Given the description of an element on the screen output the (x, y) to click on. 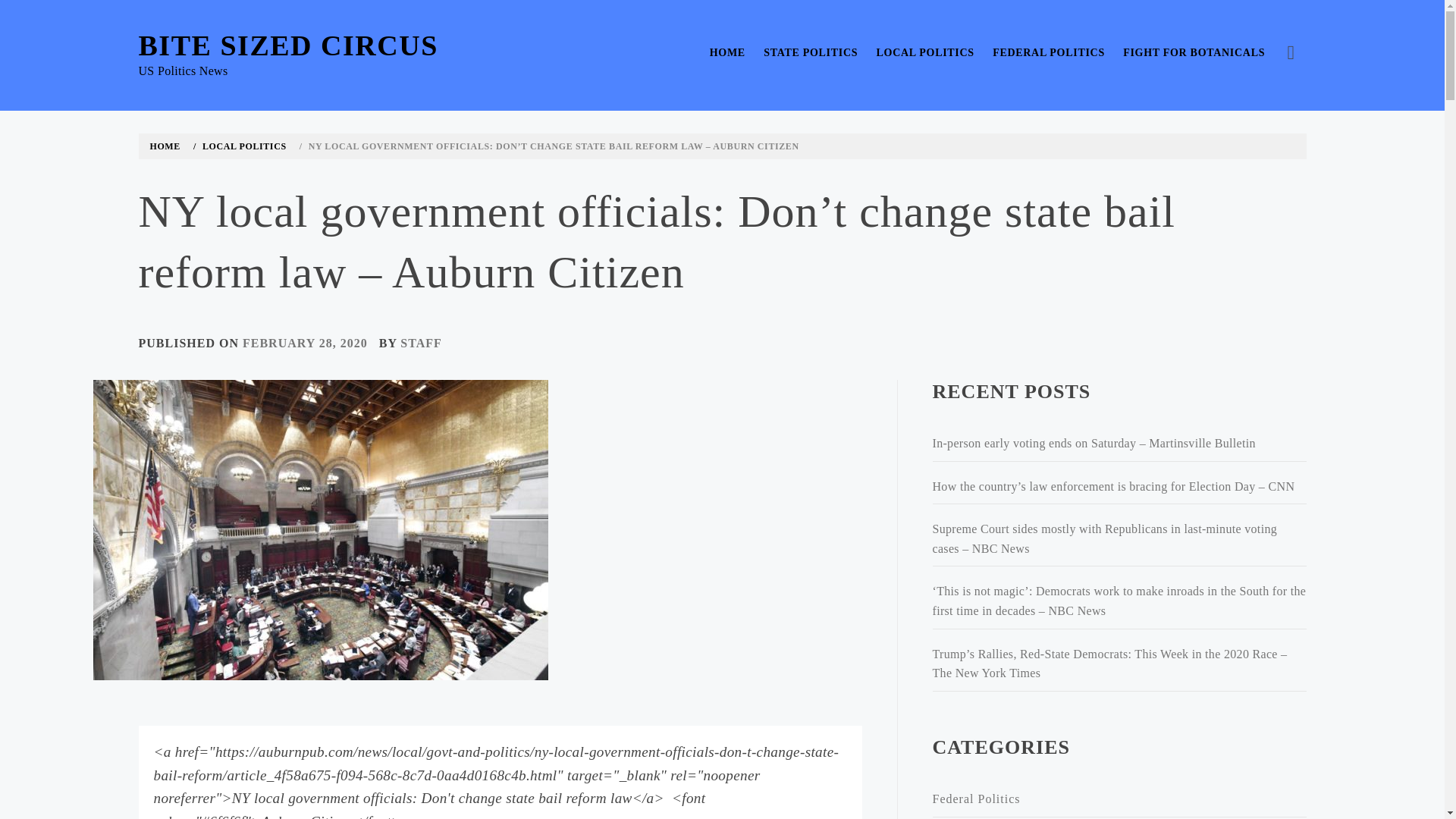
FIGHT FOR BOTANICALS (1193, 53)
LOCAL POLITICS (242, 145)
FEDERAL POLITICS (1048, 53)
BITE SIZED CIRCUS (288, 45)
LOCAL POLITICS (925, 53)
FEBRUARY 28, 2020 (305, 342)
STAFF (420, 342)
Search (646, 37)
HOME (726, 53)
STATE POLITICS (809, 53)
HOME (167, 145)
